Given the description of an element on the screen output the (x, y) to click on. 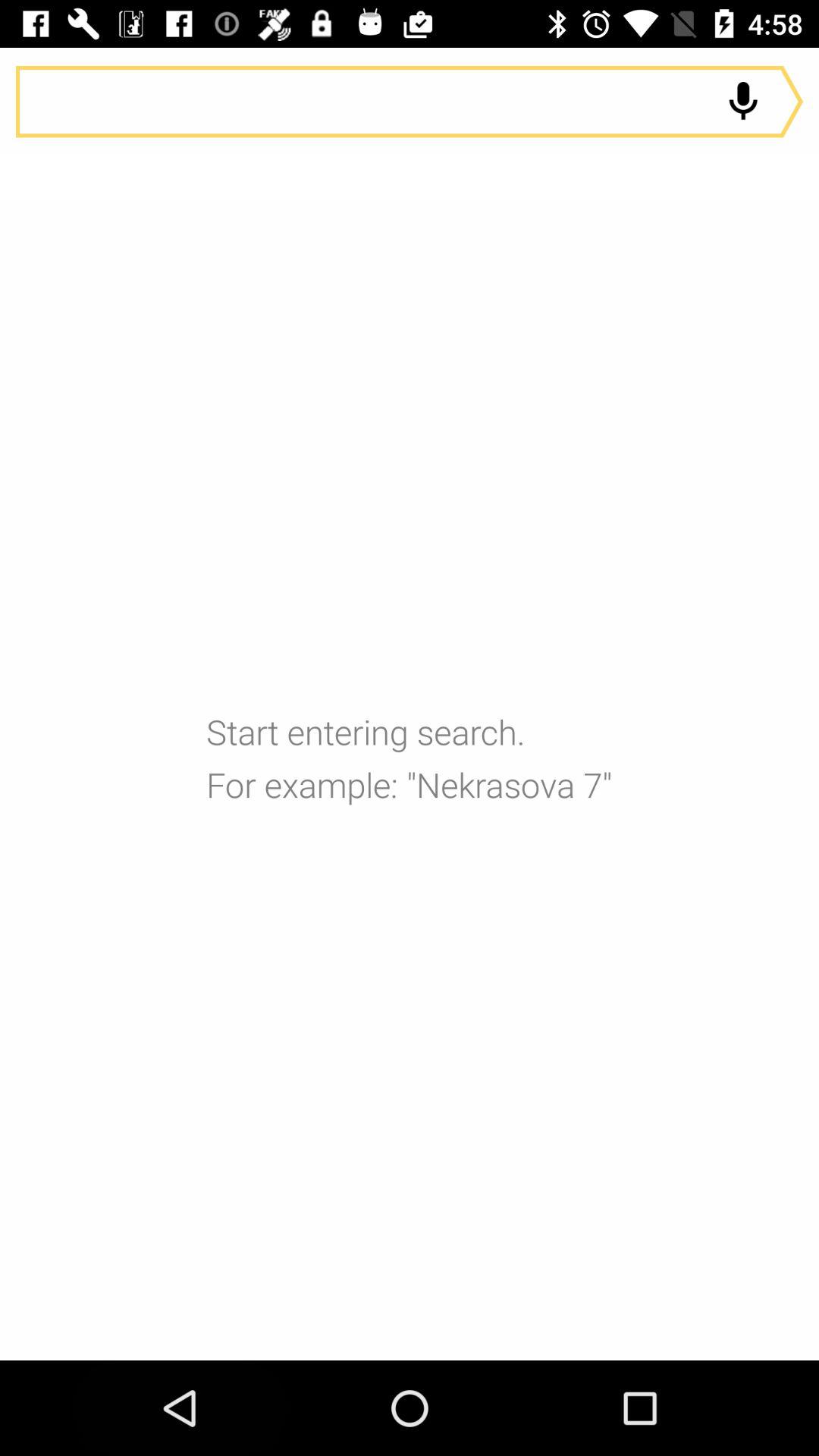
audio search (409, 101)
